Given the description of an element on the screen output the (x, y) to click on. 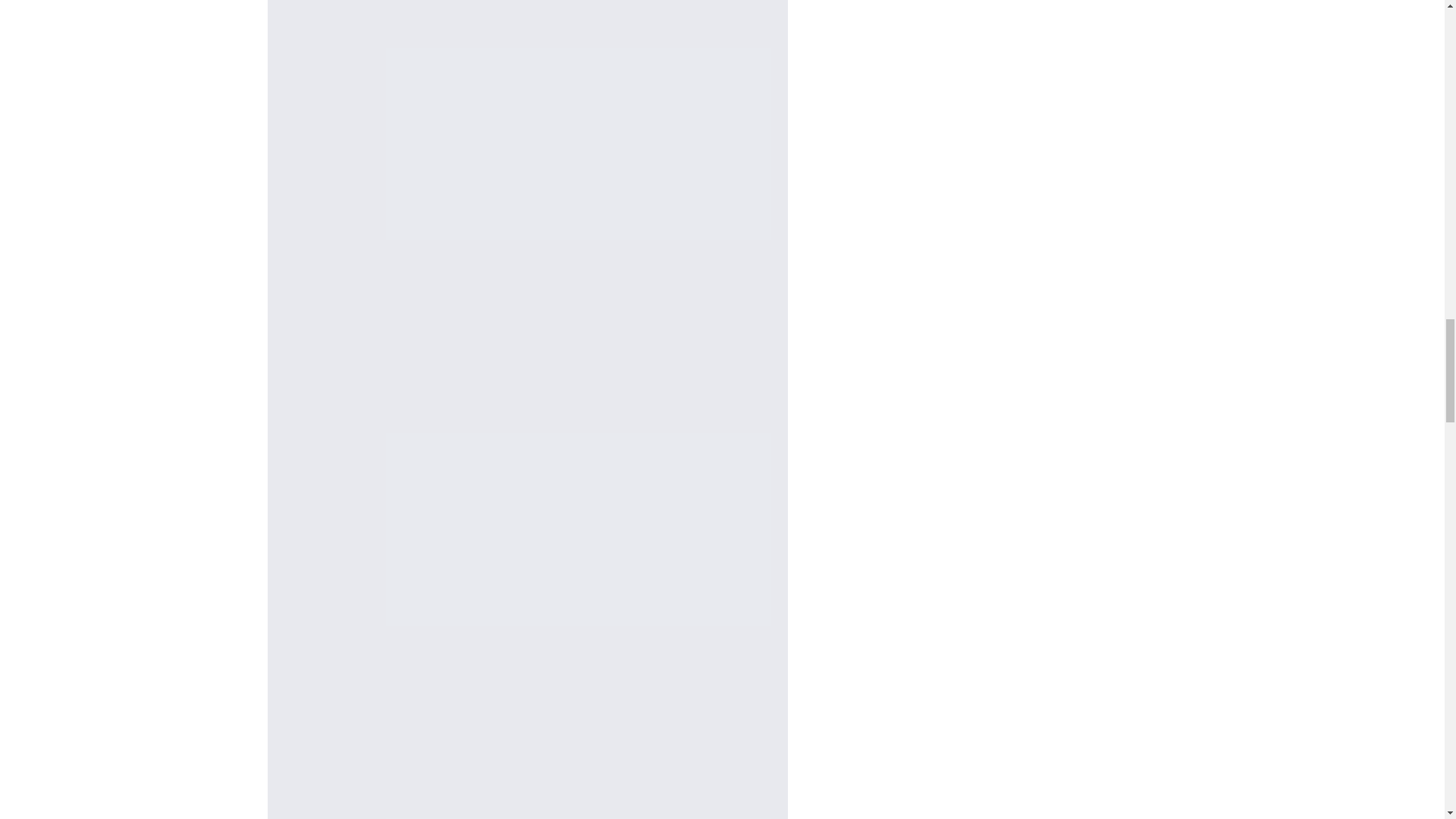
Hoka Clifton 9 Women's Running Shoes - Sole Mate (526, 761)
